Given the description of an element on the screen output the (x, y) to click on. 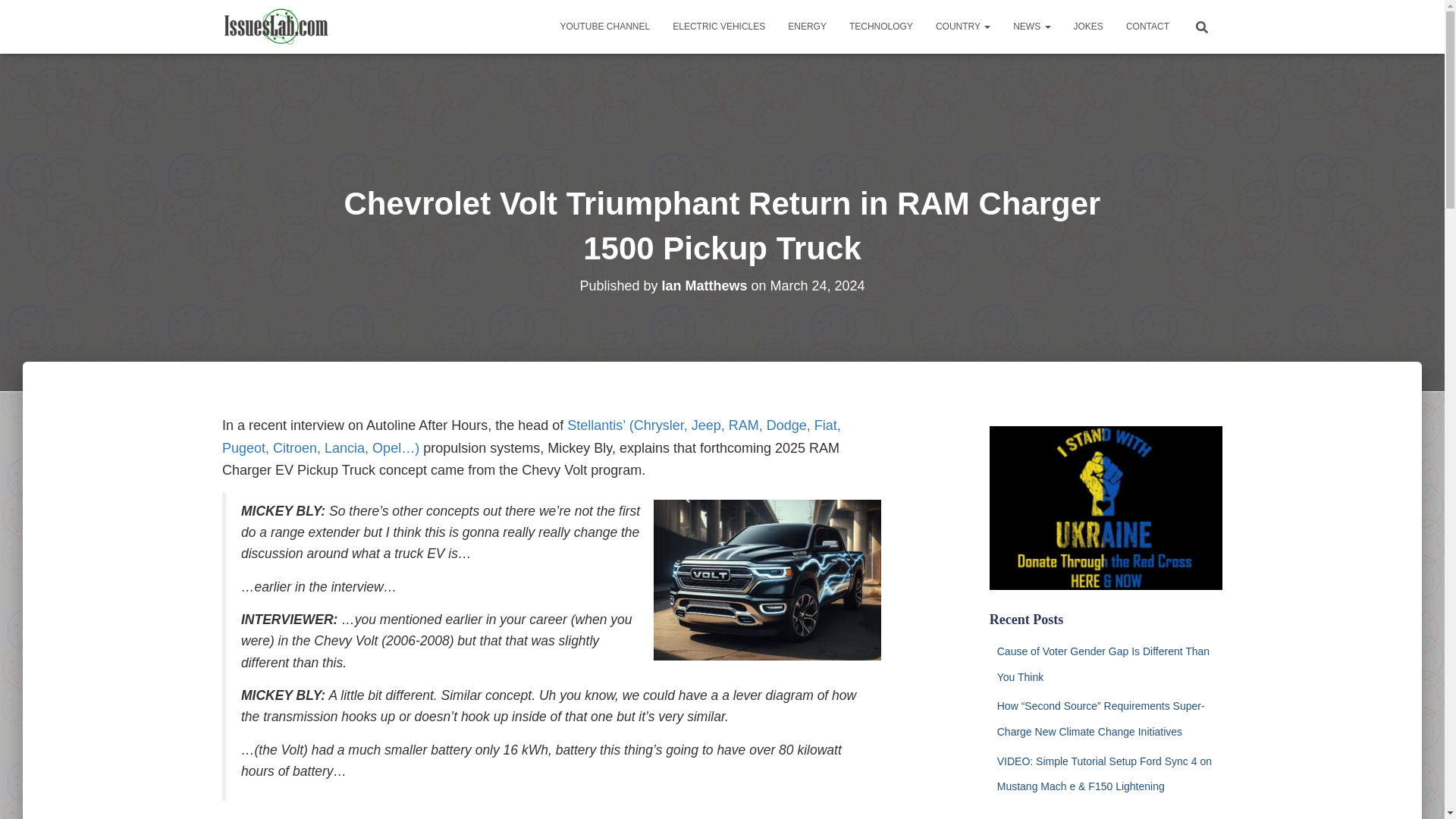
Search (16, 16)
Ian Matthews (703, 285)
ENERGY (807, 26)
ELECTRIC VEHICLES (718, 26)
Technology (881, 26)
TECHNOLOGY (881, 26)
COUNTRY (962, 26)
YOUTUBE CHANNEL (605, 26)
JOKES (1088, 26)
Electric Vehicles (718, 26)
